Given the description of an element on the screen output the (x, y) to click on. 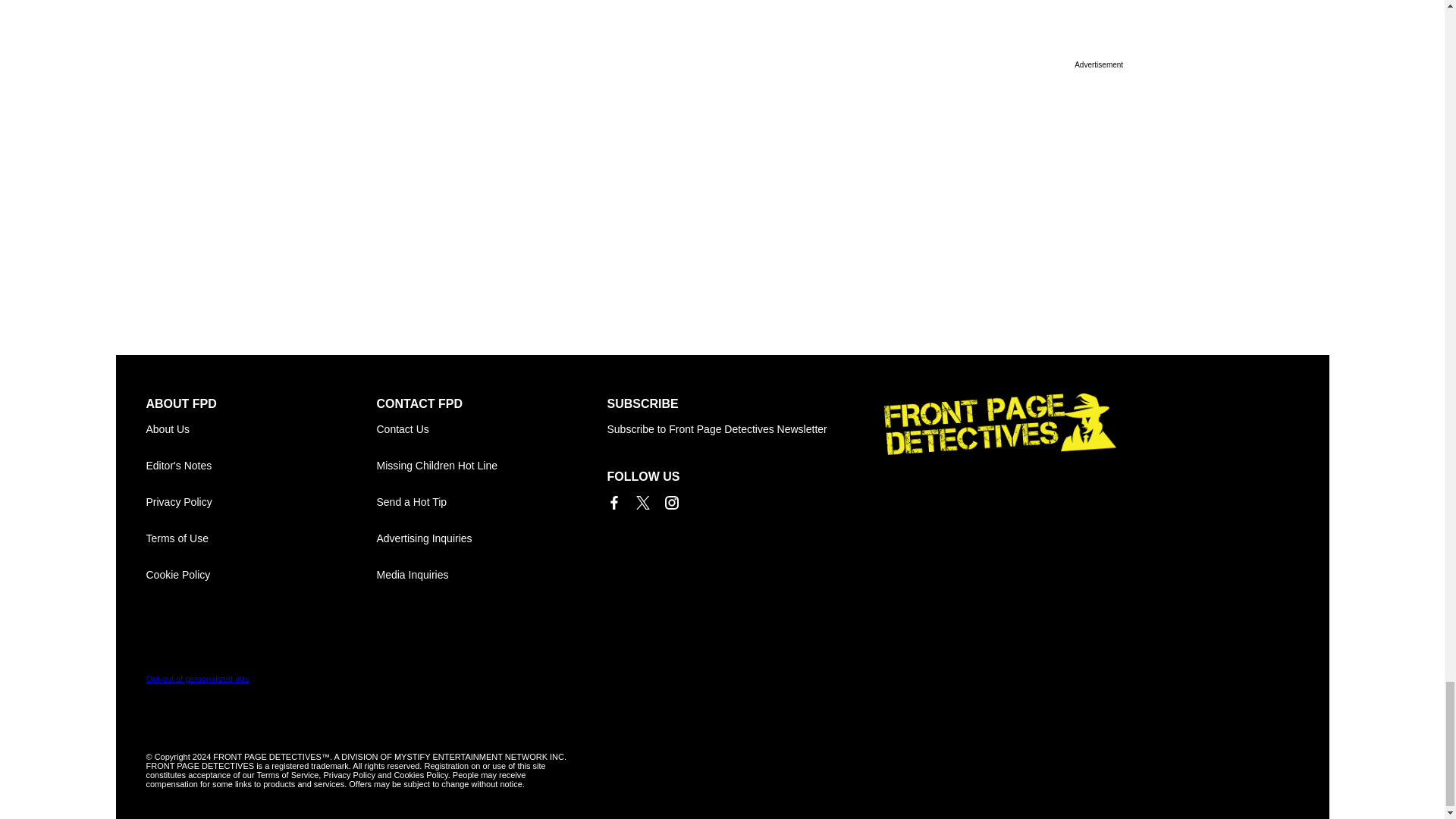
Privacy Policy (260, 502)
Editor's Notes (260, 465)
Cookie Policy (260, 574)
Link to X (641, 502)
About Us (260, 429)
Contact Us (491, 429)
Link to Instagram (670, 502)
Link to Facebook (613, 502)
About Front Page Detectives (260, 429)
Send a Hot Tip (491, 502)
